Given the description of an element on the screen output the (x, y) to click on. 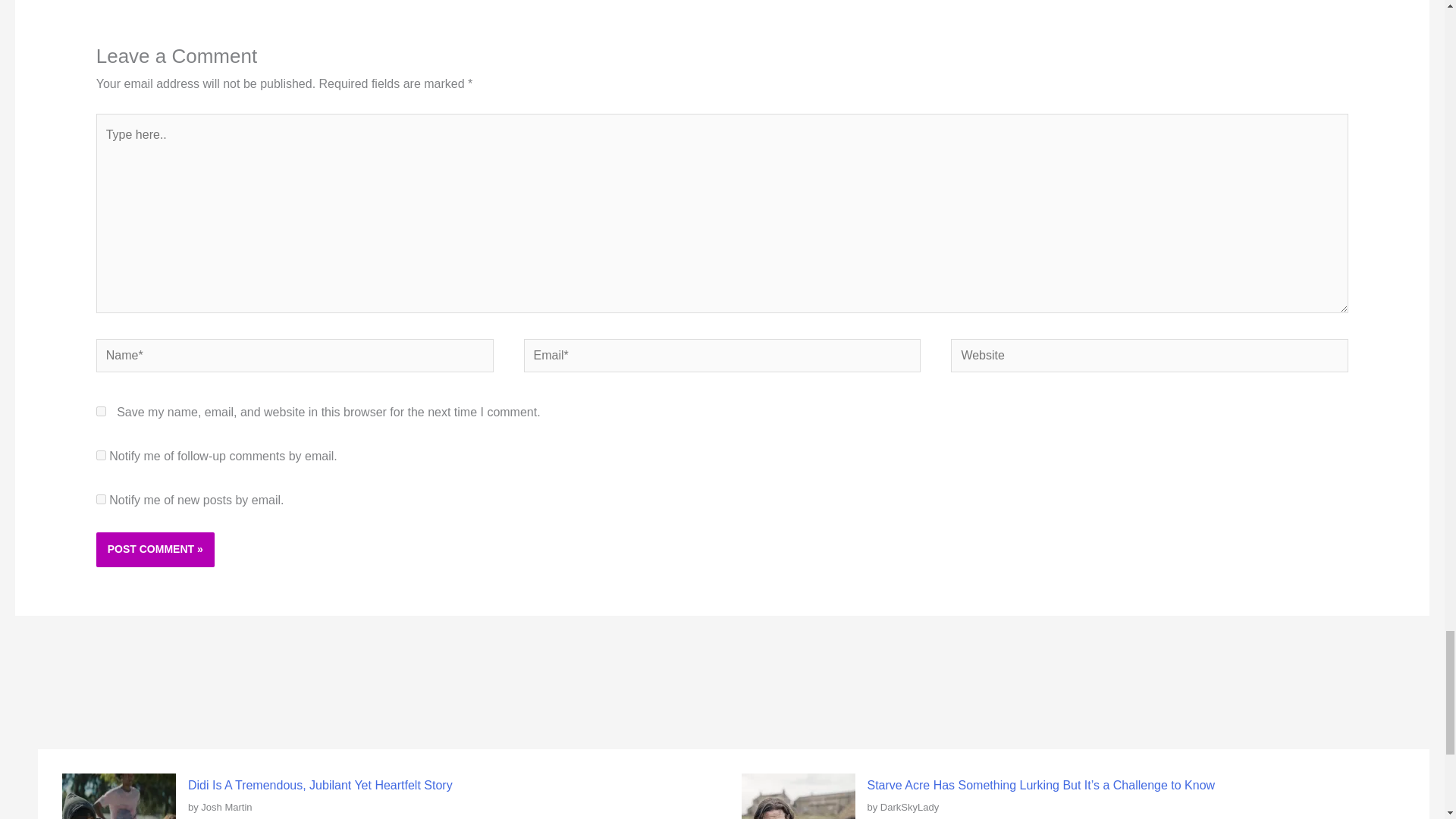
subscribe (101, 455)
subscribe (101, 499)
yes (101, 411)
